Given the description of an element on the screen output the (x, y) to click on. 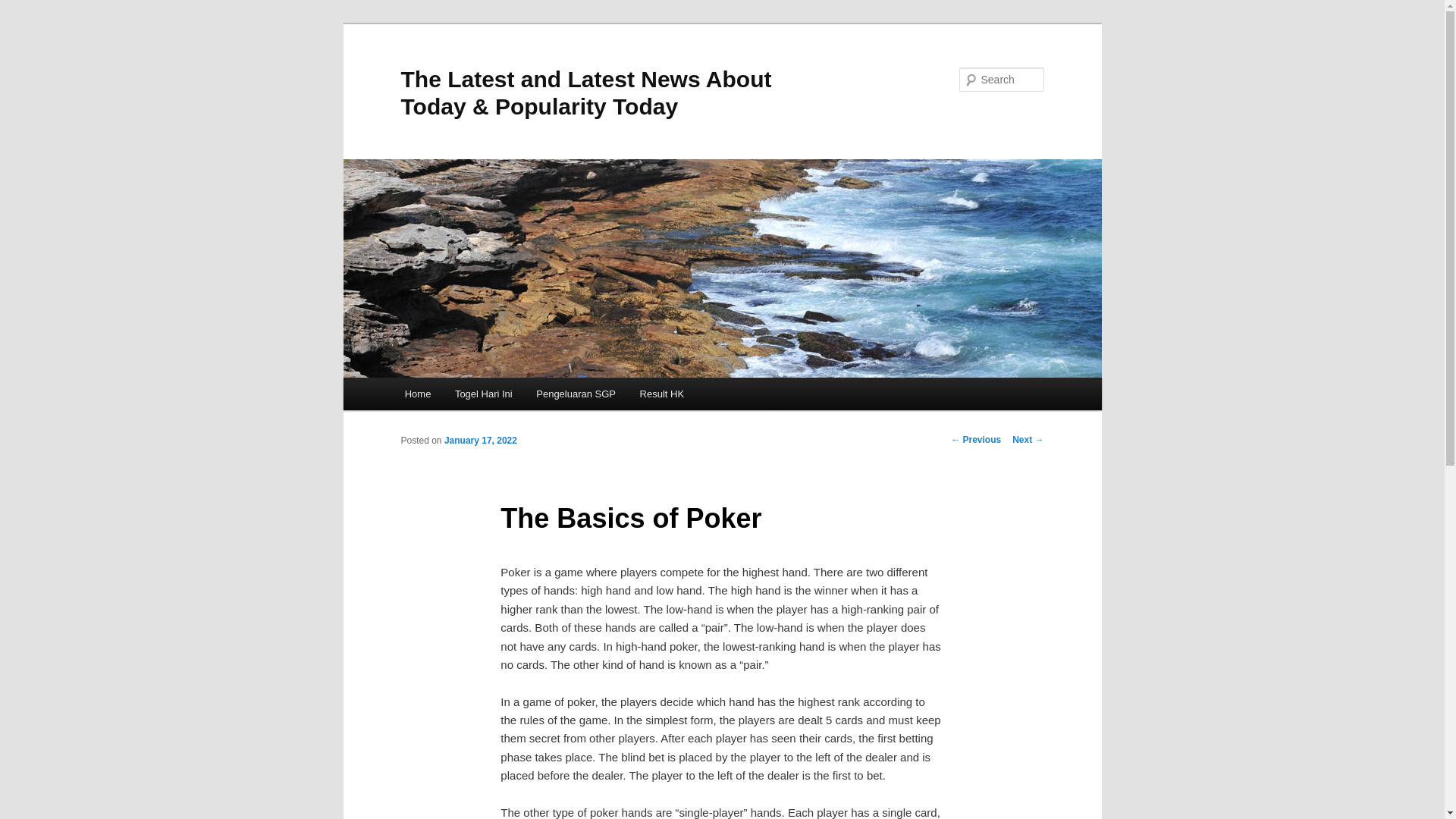
Togel Hari Ini (483, 393)
Result HK (661, 393)
Search (24, 8)
January 17, 2022 (480, 439)
Pengeluaran SGP (575, 393)
4:48 pm (480, 439)
Home (417, 393)
